Given the description of an element on the screen output the (x, y) to click on. 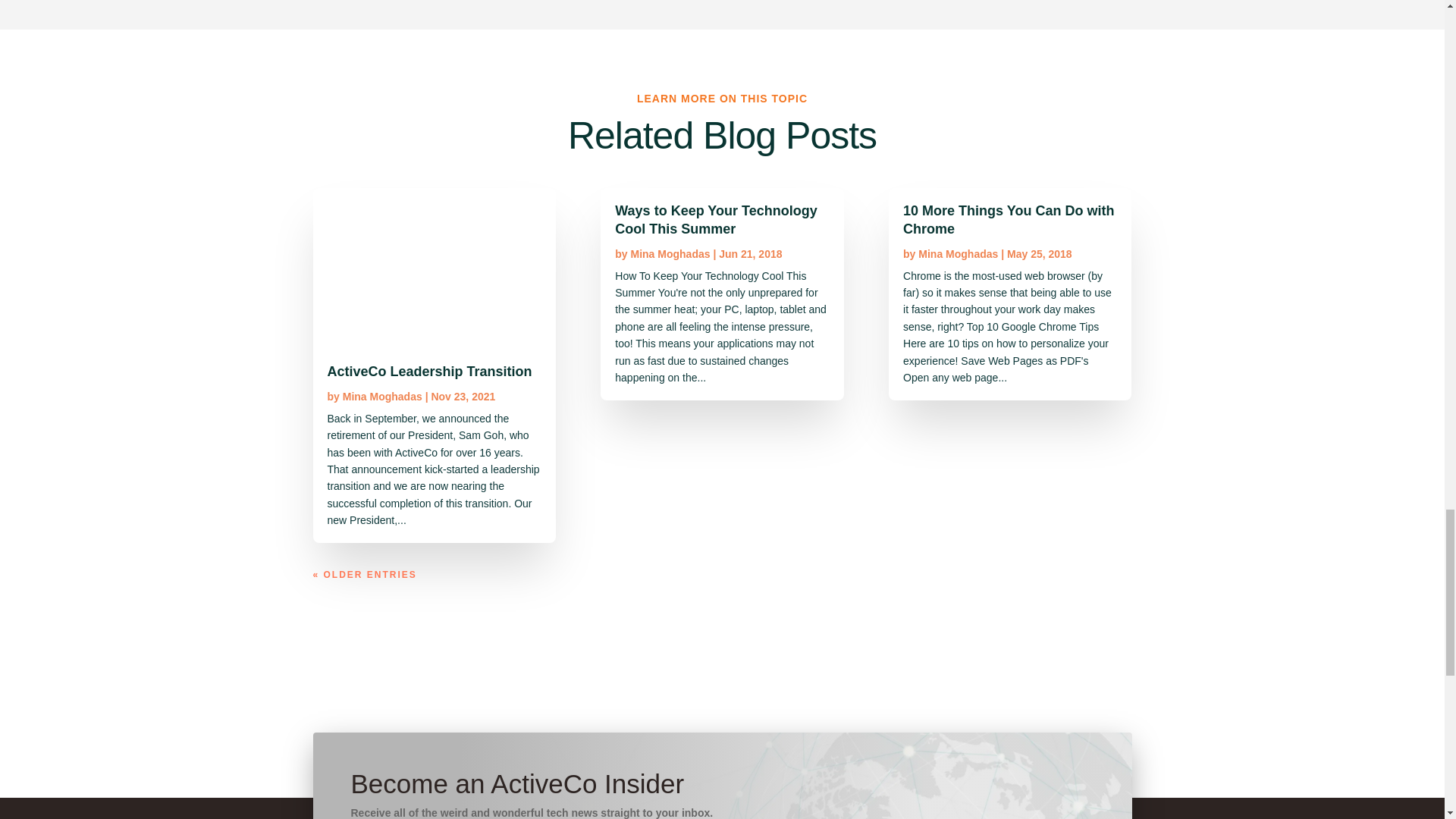
Posts by Mina Moghadas (670, 254)
Form 0 (947, 794)
Posts by Mina Moghadas (957, 254)
Posts by Mina Moghadas (382, 396)
